Given the description of an element on the screen output the (x, y) to click on. 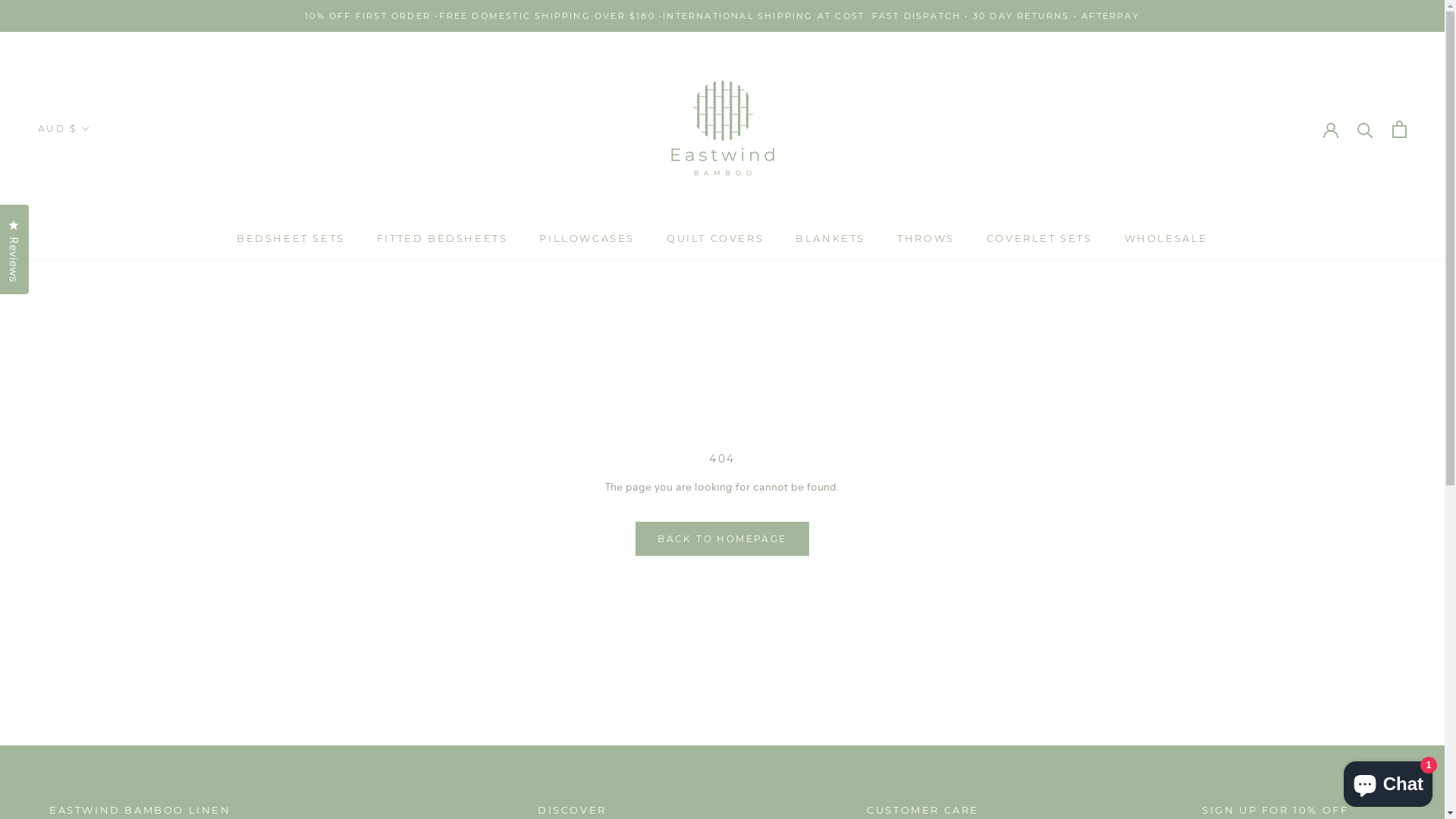
FITTED BEDSHEETS
FITTED BEDSHEETS Element type: text (442, 238)
BEDSHEET SETS
BEDSHEET SETS Element type: text (290, 238)
AUD $ Element type: text (63, 128)
QUILT COVERS
QUILT COVERS Element type: text (714, 238)
BLANKETS
BLANKETS Element type: text (830, 238)
WHOLESALE
WHOLESALE Element type: text (1166, 238)
NZD Element type: text (81, 185)
PILLOWCASES
PILLOWCASES Element type: text (586, 238)
BACK TO HOMEPAGE Element type: text (721, 538)
AUD Element type: text (81, 162)
USD Element type: text (81, 208)
Shopify online store chat Element type: hover (1388, 780)
COVERLET SETS
COVERLET SETS Element type: text (1039, 238)
THROWS
THROWS Element type: text (925, 238)
